Given the description of an element on the screen output the (x, y) to click on. 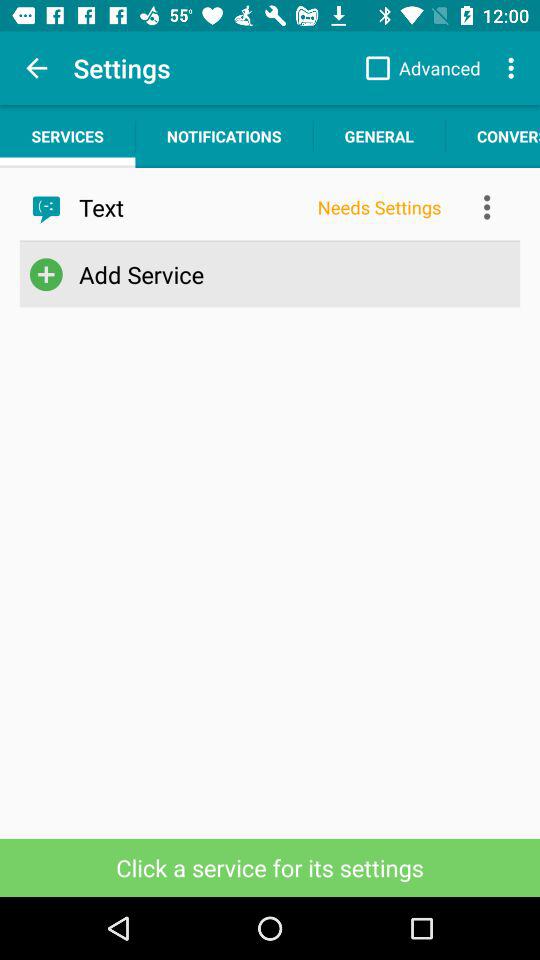
turn off the item to the left of the needs settings item (191, 207)
